Given the description of an element on the screen output the (x, y) to click on. 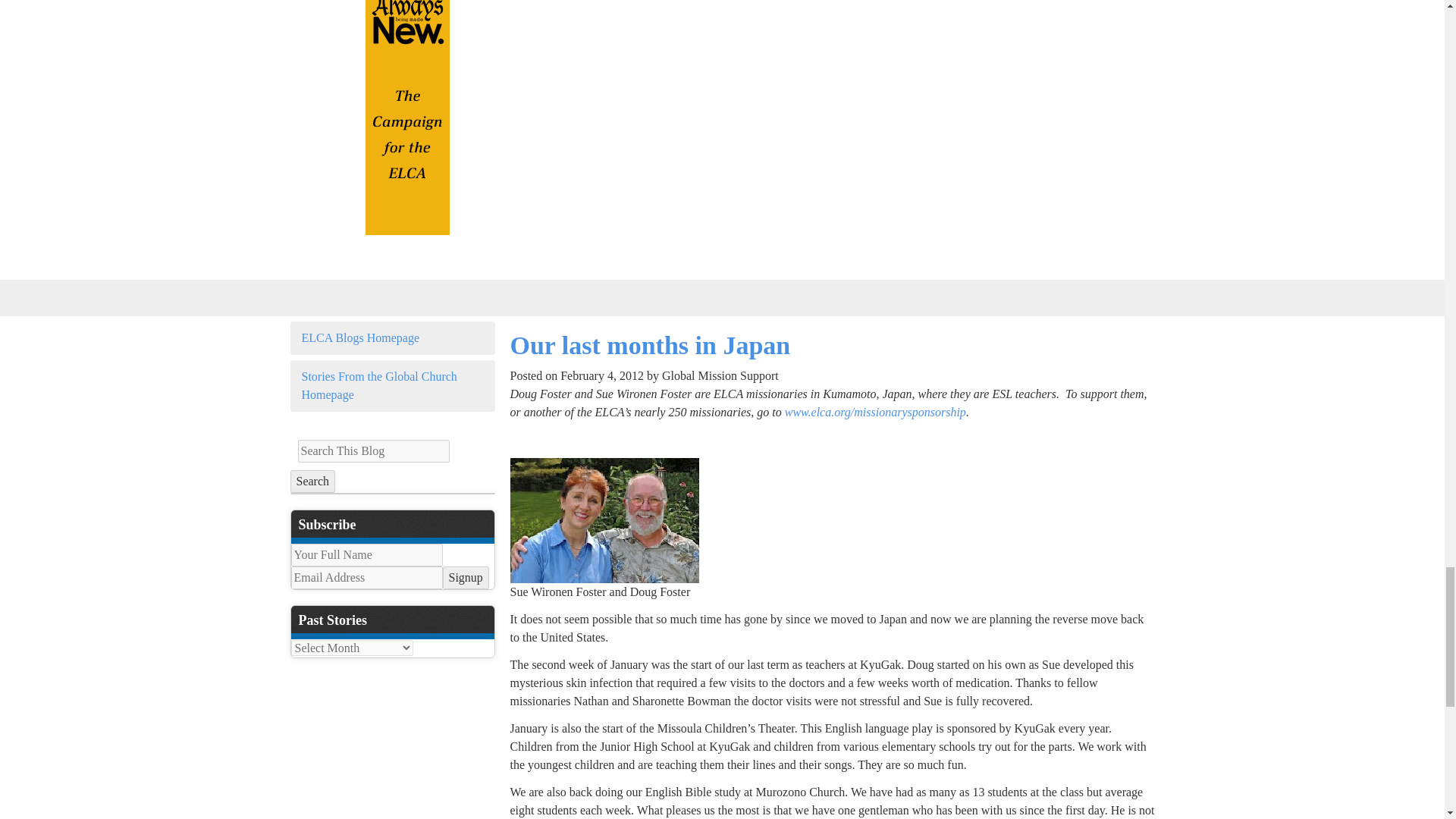
Search (311, 481)
Search (311, 481)
